Given the description of an element on the screen output the (x, y) to click on. 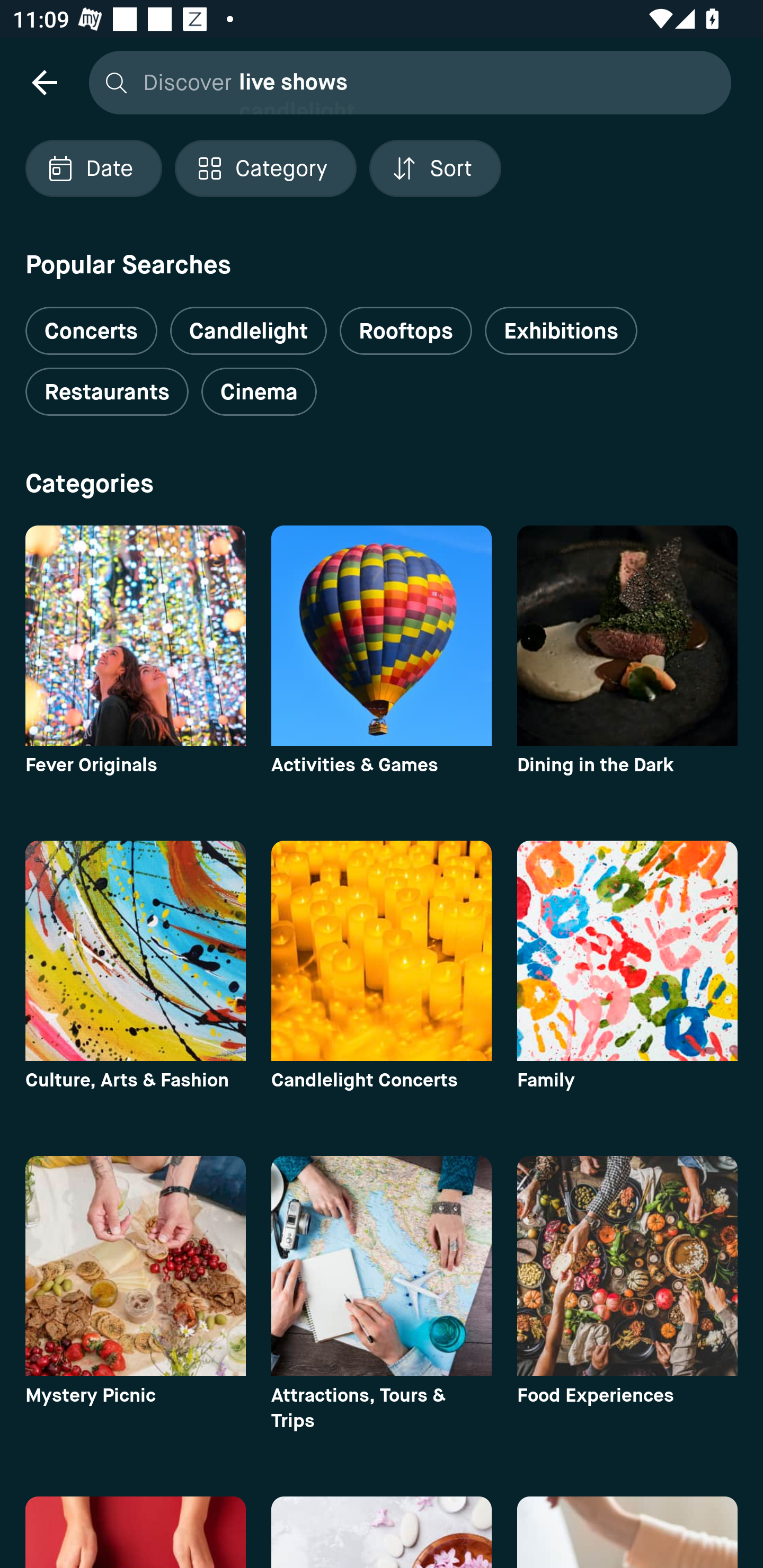
navigation icon (44, 81)
Discover live shows (405, 81)
Localized description Date (93, 168)
Localized description Category (265, 168)
Localized description Sort (435, 168)
Concerts (91, 323)
Candlelight (248, 330)
Rooftops (405, 330)
Exhibitions (560, 330)
Restaurants (106, 391)
Cinema (258, 391)
category image (135, 635)
category image (381, 635)
category image (627, 635)
category image (135, 950)
category image (381, 950)
category image (627, 950)
category image (135, 1265)
category image (381, 1265)
category image (627, 1265)
